Given the description of an element on the screen output the (x, y) to click on. 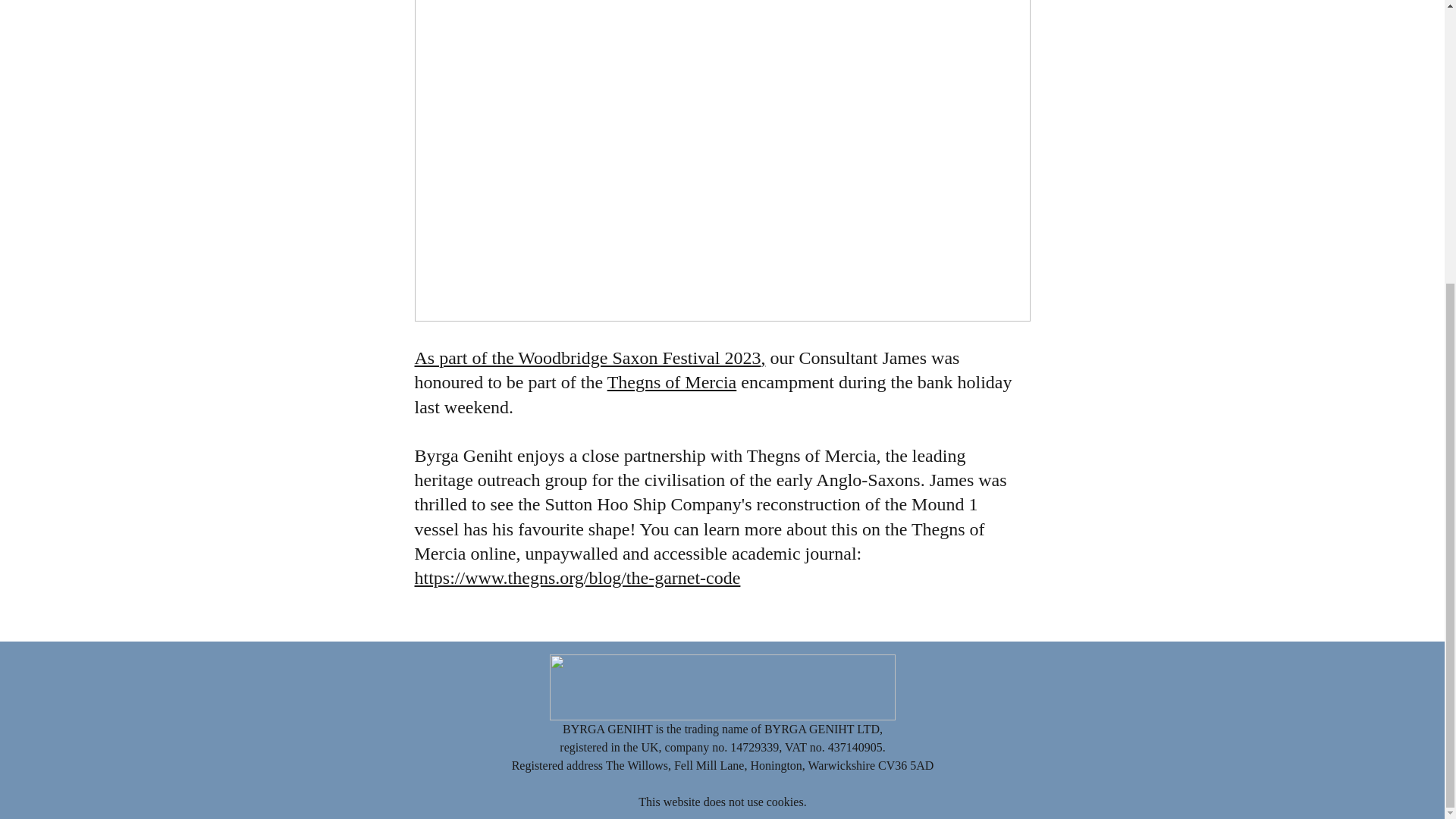
As part of the Woodbridge Saxon Festival 2023 (586, 357)
Thegns of Mercia (671, 382)
